Given the description of an element on the screen output the (x, y) to click on. 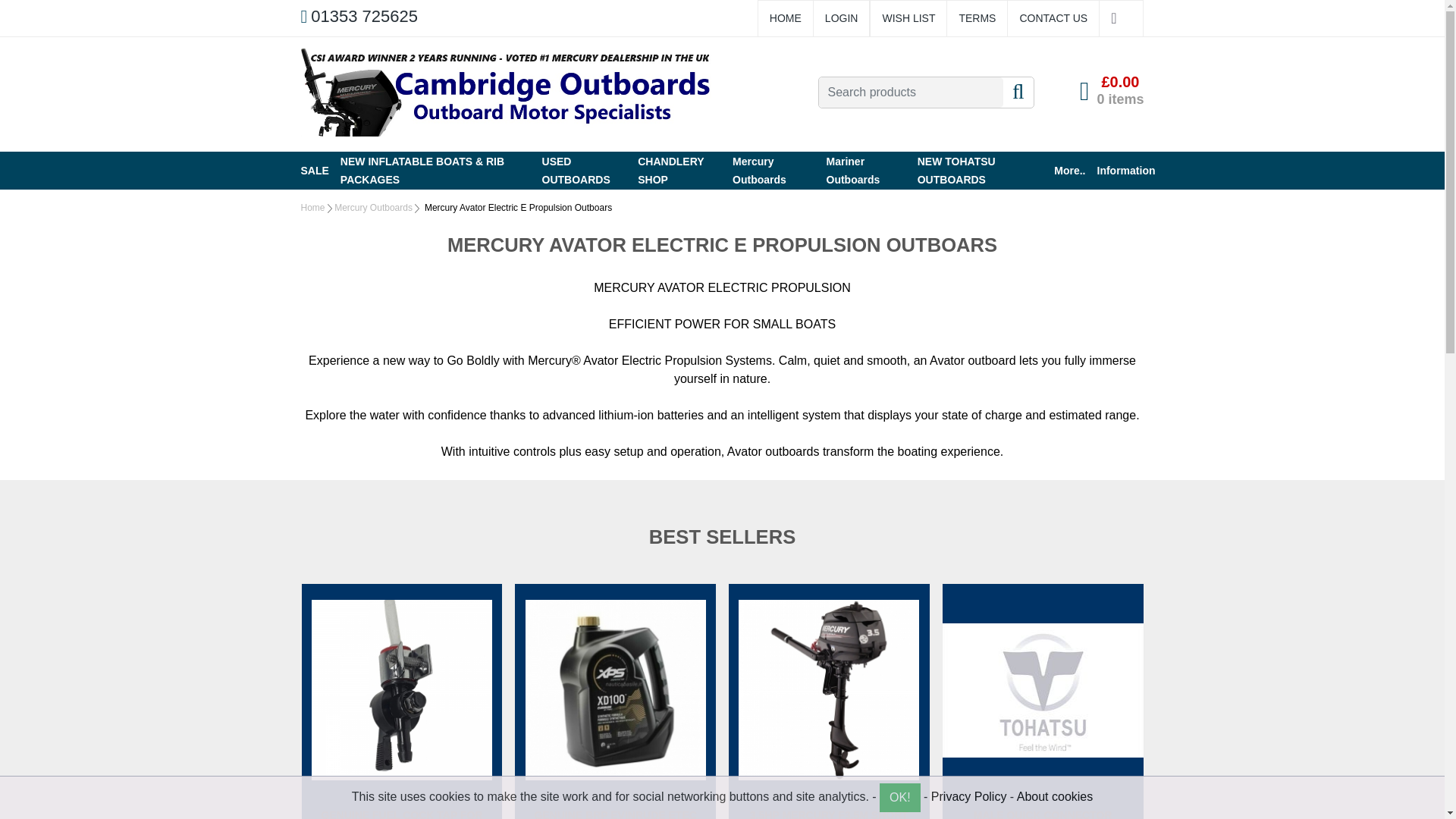
Cambridge Outboards Online Catalogue (504, 92)
LOGIN (842, 18)
MALE QUICK CONNECTOR image (1042, 690)
01353 725625 (357, 16)
HOME (786, 18)
WISH LIST (908, 18)
CONTACT US (1053, 18)
